Given the description of an element on the screen output the (x, y) to click on. 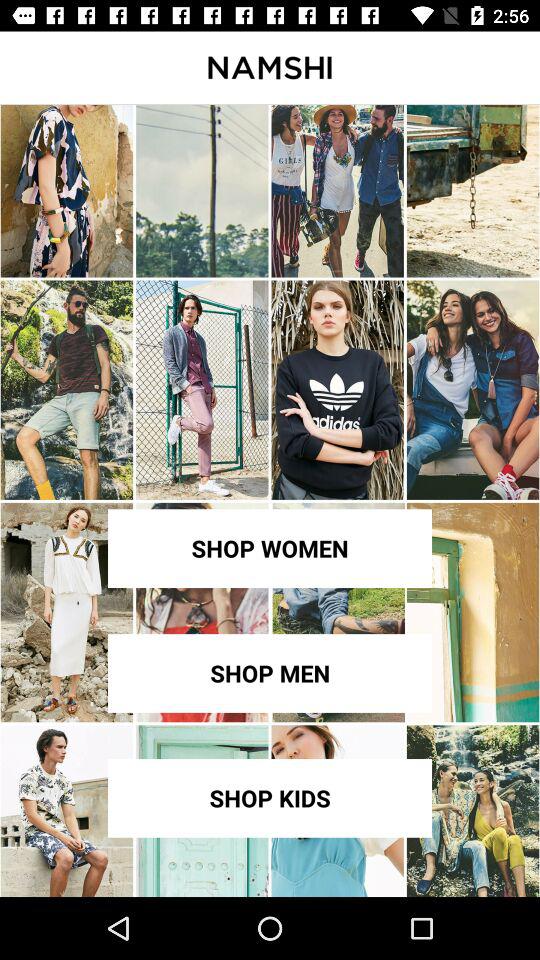
select icon above shop kids (270, 673)
